Given the description of an element on the screen output the (x, y) to click on. 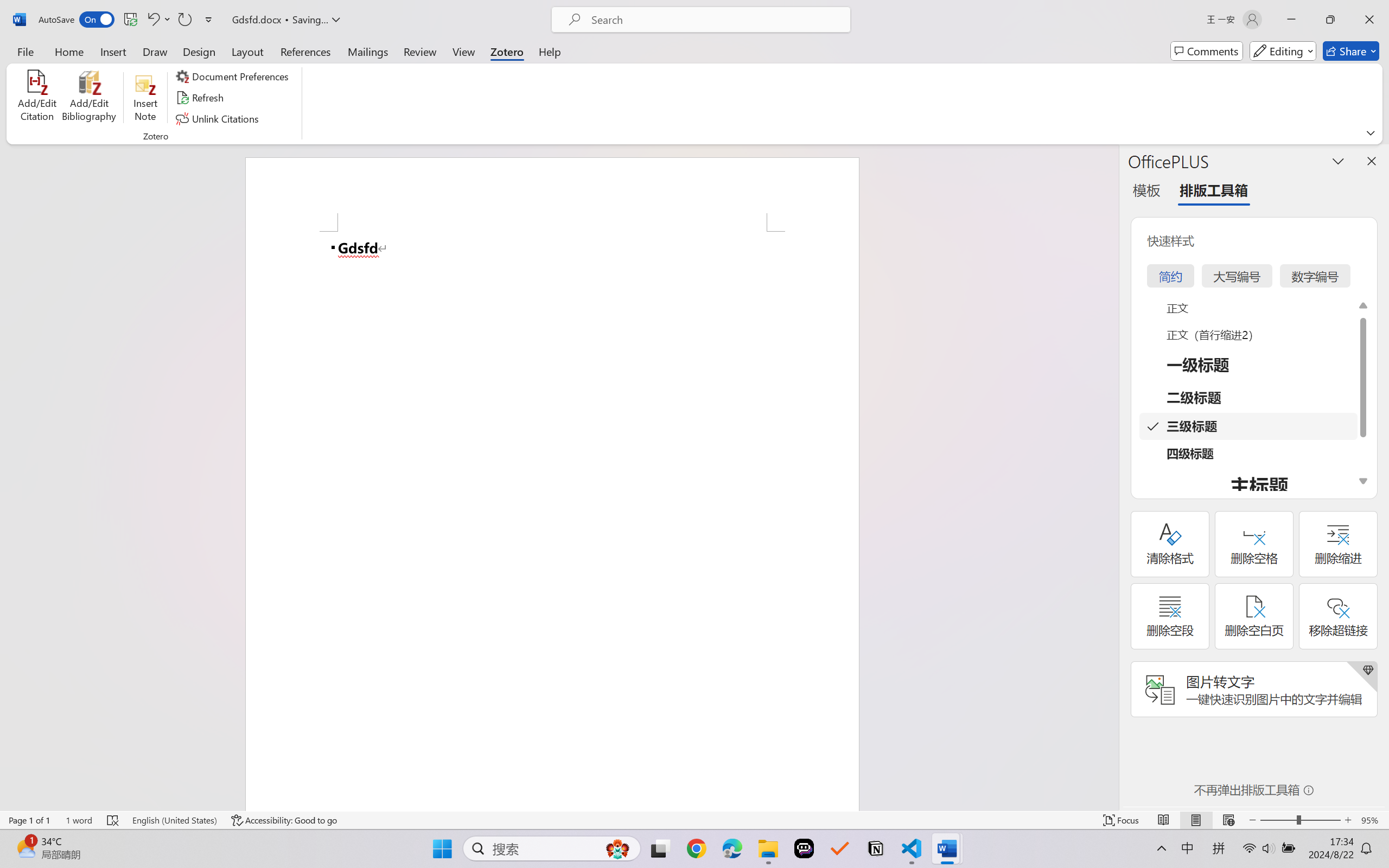
Zoom 95% (1372, 819)
Undo <ApplyStyleToDoc>b__0 (152, 19)
Undo <ApplyStyleToDoc>b__0 (158, 19)
